Given the description of an element on the screen output the (x, y) to click on. 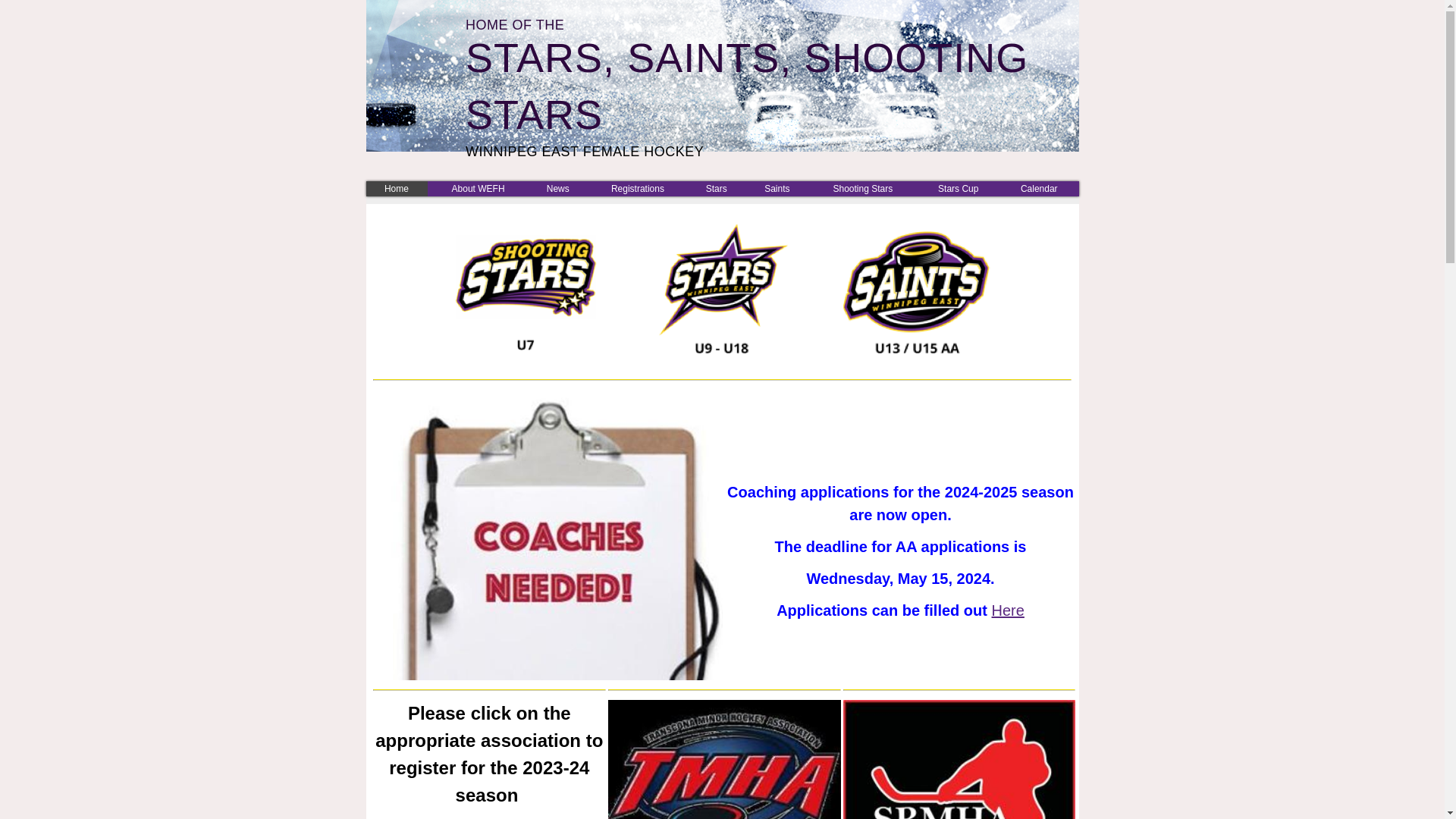
Saints (777, 188)
Home (396, 188)
About WEFH (477, 188)
click to go to 'Registrations' (637, 188)
click to go to 'Home' (396, 188)
News (558, 188)
click to go to 'About WEFH' (477, 188)
Registrations (637, 188)
click to go to 'Stars' (716, 188)
Stars Cup (958, 188)
click to go to 'News' (558, 188)
Stars (716, 188)
Shooting Stars (863, 188)
